Given the description of an element on the screen output the (x, y) to click on. 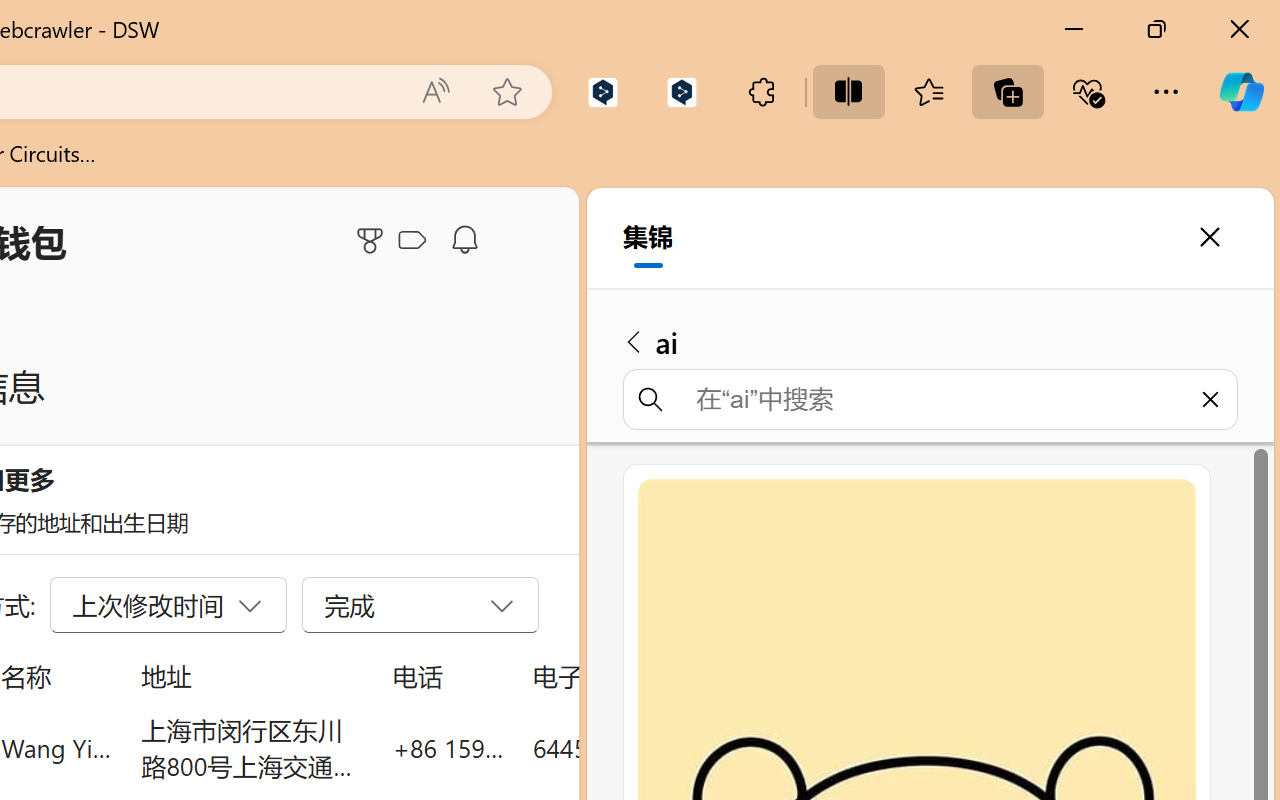
+86 159 0032 4640 (447, 747)
644553698@qq.com (644, 747)
Copilot (Ctrl+Shift+.) (1241, 91)
Class: ___1lmltc5 f1agt3bx f12qytpq (411, 241)
